Given the description of an element on the screen output the (x, y) to click on. 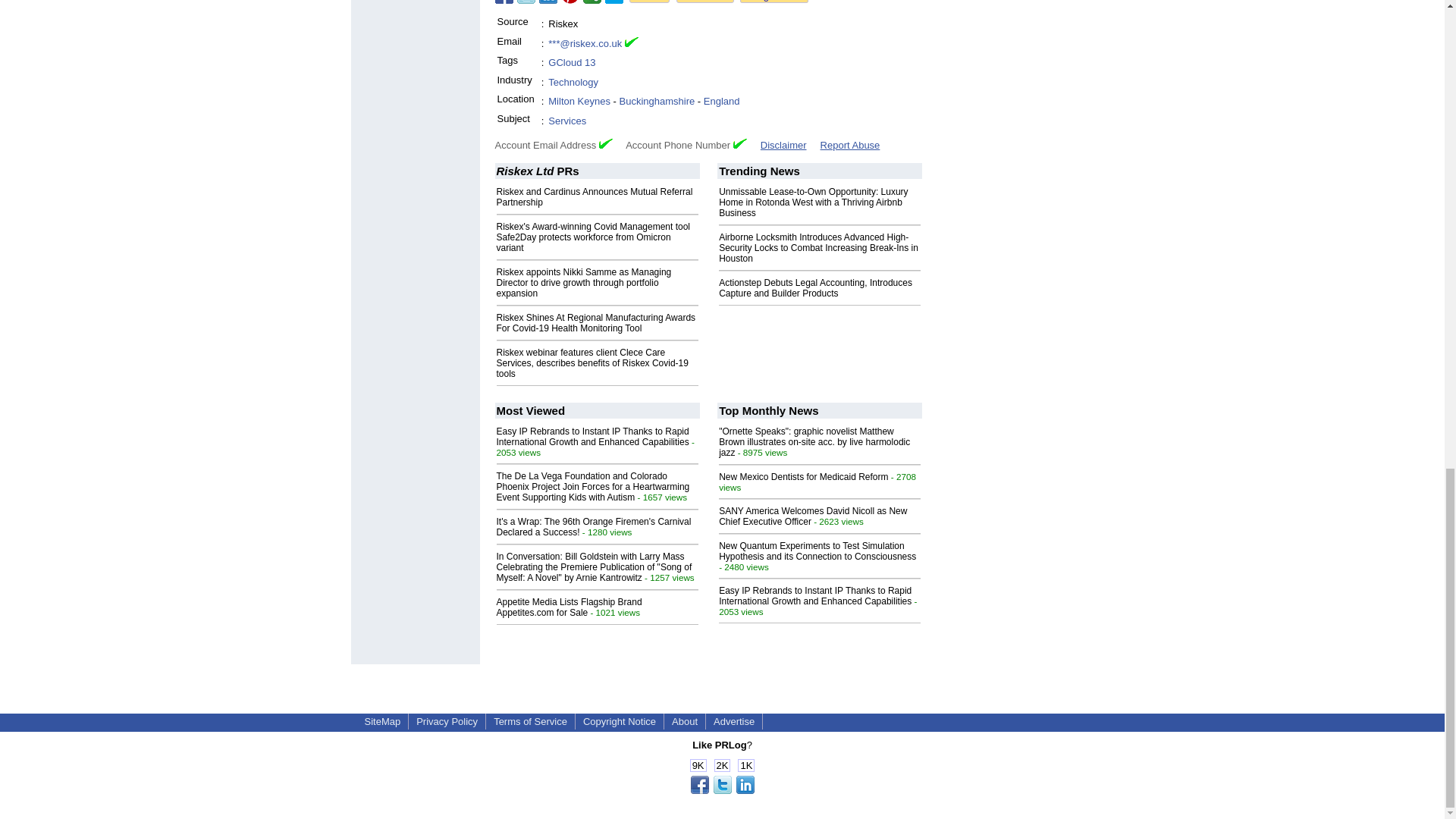
Verified (739, 143)
Share this page! (722, 790)
Share on Twitter (525, 2)
Embed (648, 1)
Share on Facebook (503, 2)
Share on Pinterest (569, 2)
Share on StumbleUpon, Digg, etc (590, 2)
Embed this press release in your website! (648, 1)
See or print the PDF version! (705, 1)
